Given the description of an element on the screen output the (x, y) to click on. 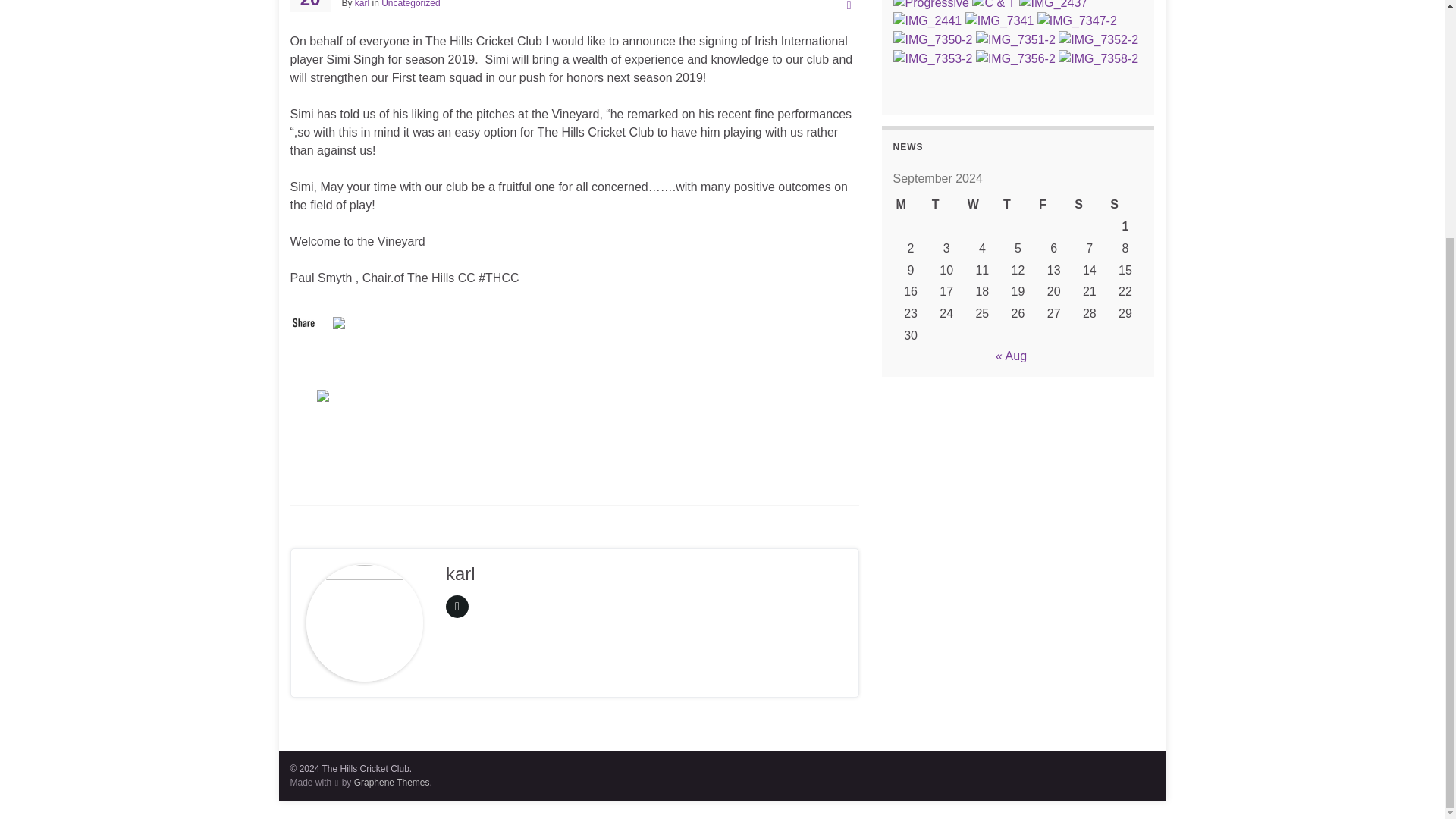
Facebook (339, 320)
Twitter (325, 393)
Uncategorized (410, 4)
karl (362, 4)
